Given the description of an element on the screen output the (x, y) to click on. 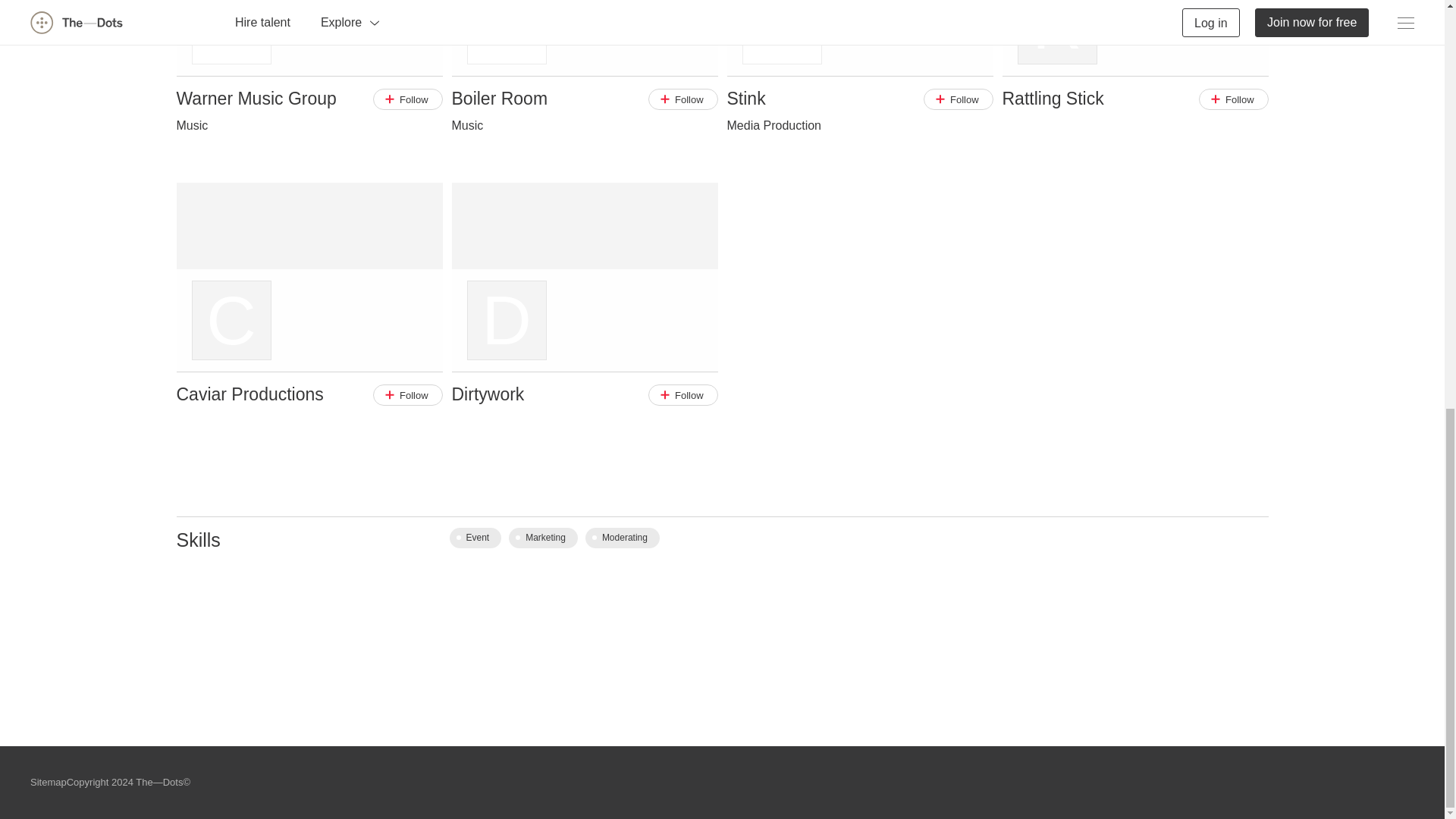
R (1135, 38)
Follow (957, 98)
Follow (407, 98)
Follow (682, 98)
C (309, 277)
Follow (407, 394)
Event (474, 537)
Follow (1233, 98)
Follow (682, 394)
D (584, 277)
